Given the description of an element on the screen output the (x, y) to click on. 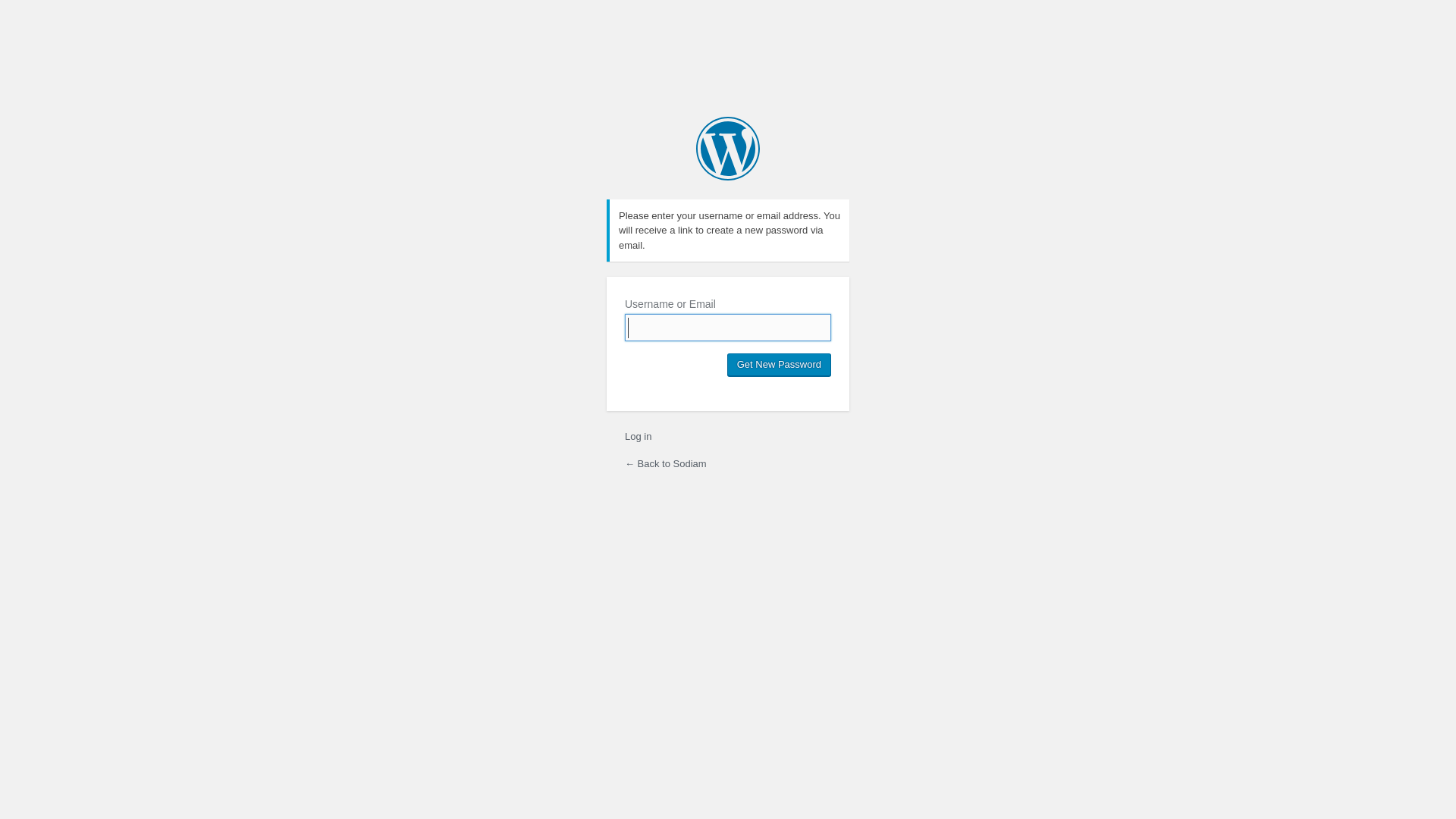
Log in Element type: text (637, 436)
Get New Password Element type: text (779, 364)
Sodiam Element type: text (727, 148)
